Given the description of an element on the screen output the (x, y) to click on. 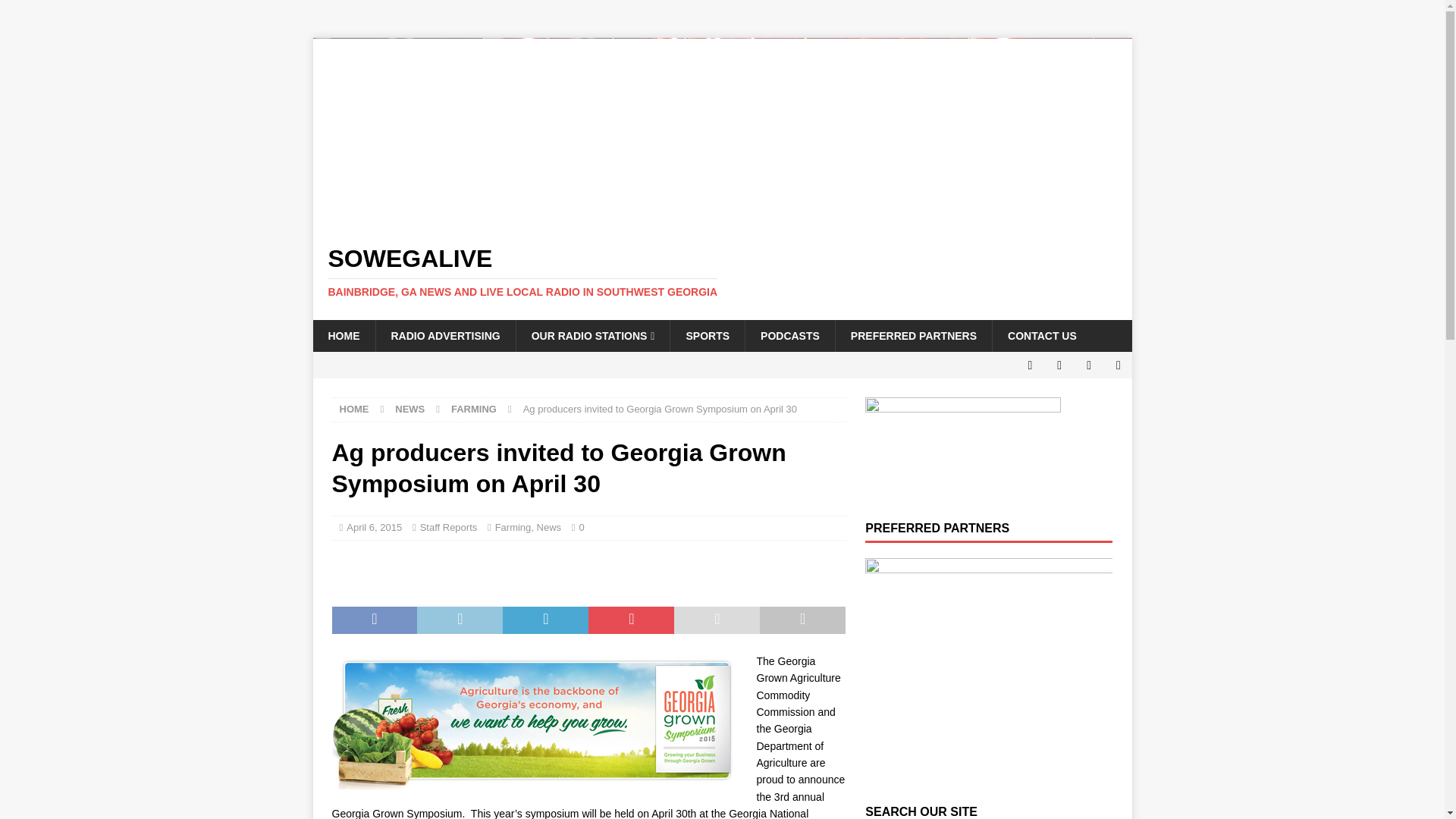
Sowegalive (722, 218)
Sowegalive (721, 272)
FARMING (473, 408)
SPORTS (706, 336)
Farming (513, 527)
PODCASTS (789, 336)
HOME (343, 336)
News (549, 527)
Staff Reports (448, 527)
RADIO ADVERTISING (444, 336)
OUR RADIO STATIONS (592, 336)
NEWS (409, 408)
HOME (354, 408)
CONTACT US (1041, 336)
